Given the description of an element on the screen output the (x, y) to click on. 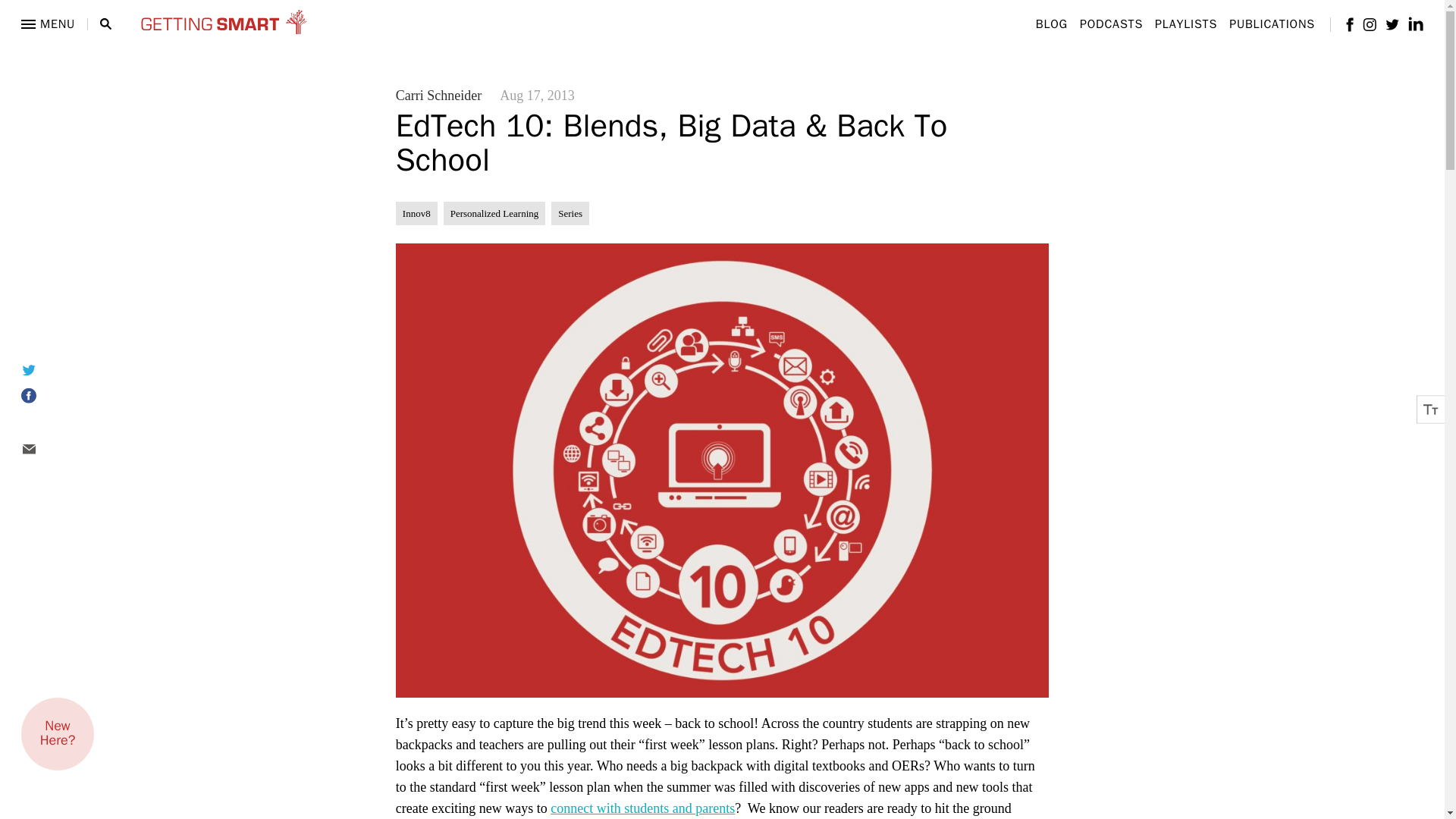
PUBLICATIONS (1271, 23)
twitter (1392, 23)
PLAYLISTS (1185, 23)
MENU (48, 24)
Share on LinkedIn (47, 422)
Share on Facebook (47, 395)
linkedin (1415, 23)
Share via Email (47, 449)
BLOG (1051, 23)
Share on Twitter (47, 369)
instagram (1368, 24)
PODCASTS (1111, 23)
